Given the description of an element on the screen output the (x, y) to click on. 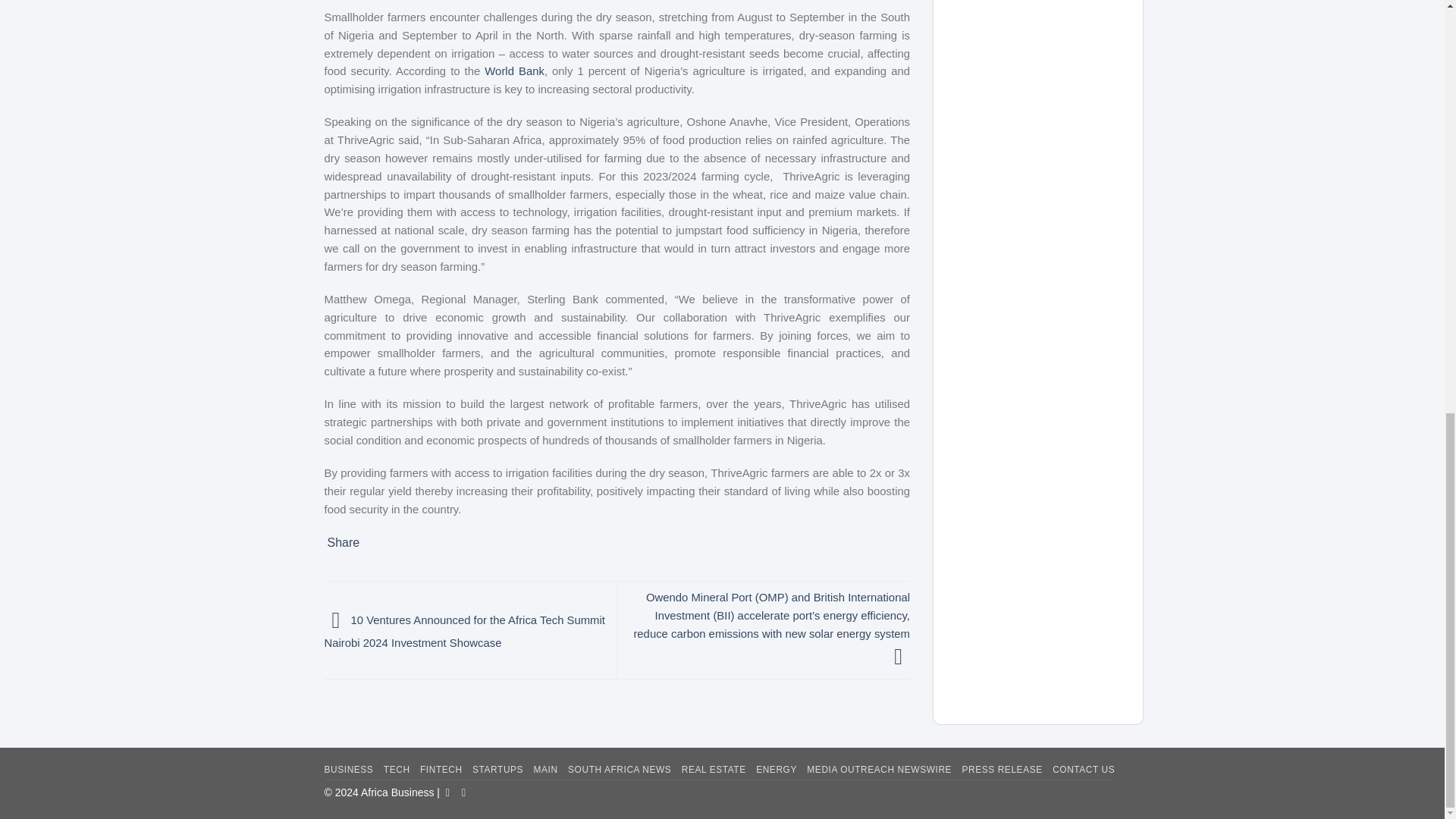
Share (343, 542)
World Bank (514, 70)
